Given the description of an element on the screen output the (x, y) to click on. 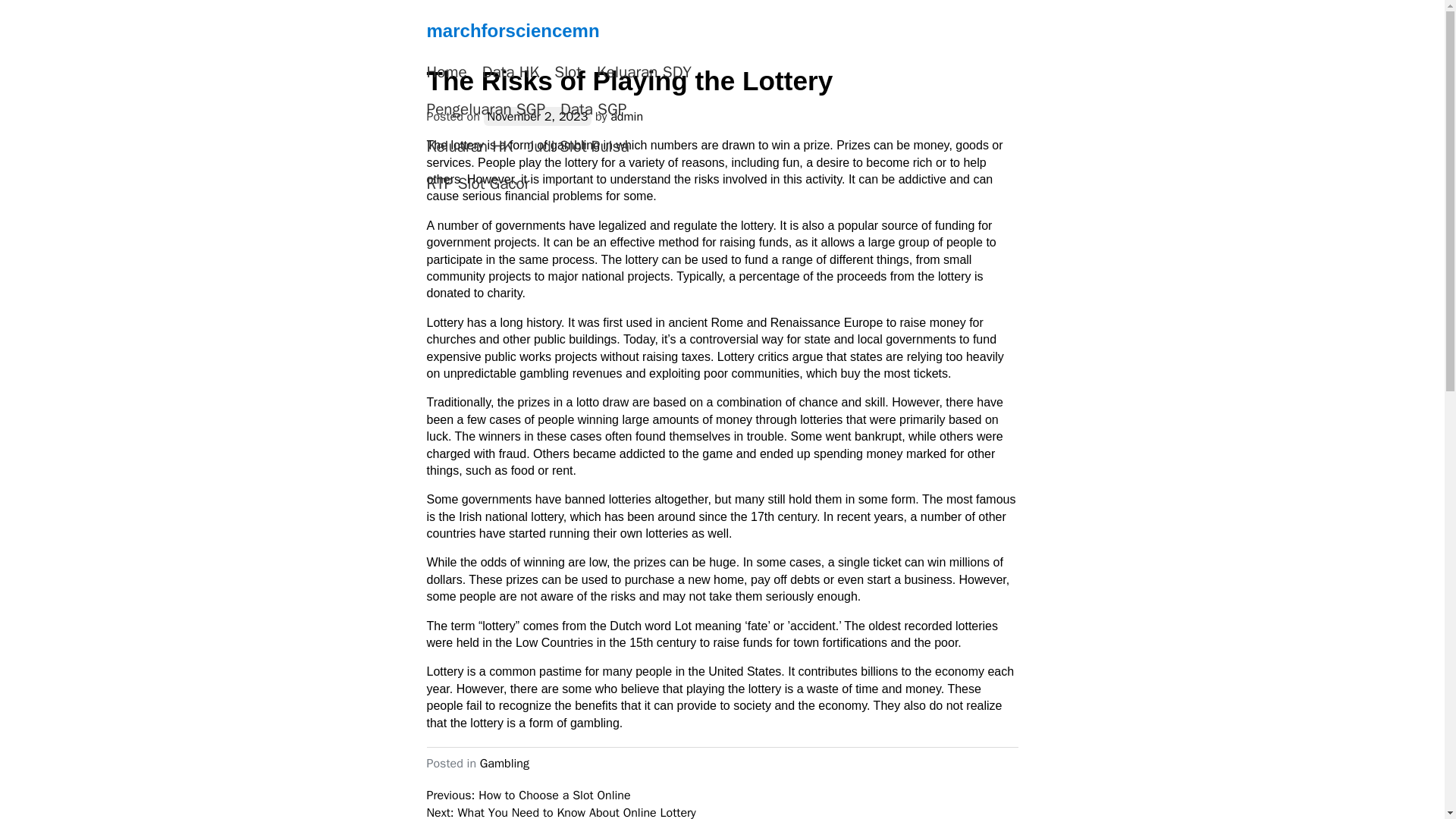
Data HK (510, 73)
Pengeluaran SGP (485, 110)
Keluaran HK (469, 147)
Gambling (504, 763)
RTP Slot Gacor (477, 184)
Home (445, 73)
Slot (567, 73)
November 2, 2023 (537, 116)
marchforsciencemn (512, 30)
